Given the description of an element on the screen output the (x, y) to click on. 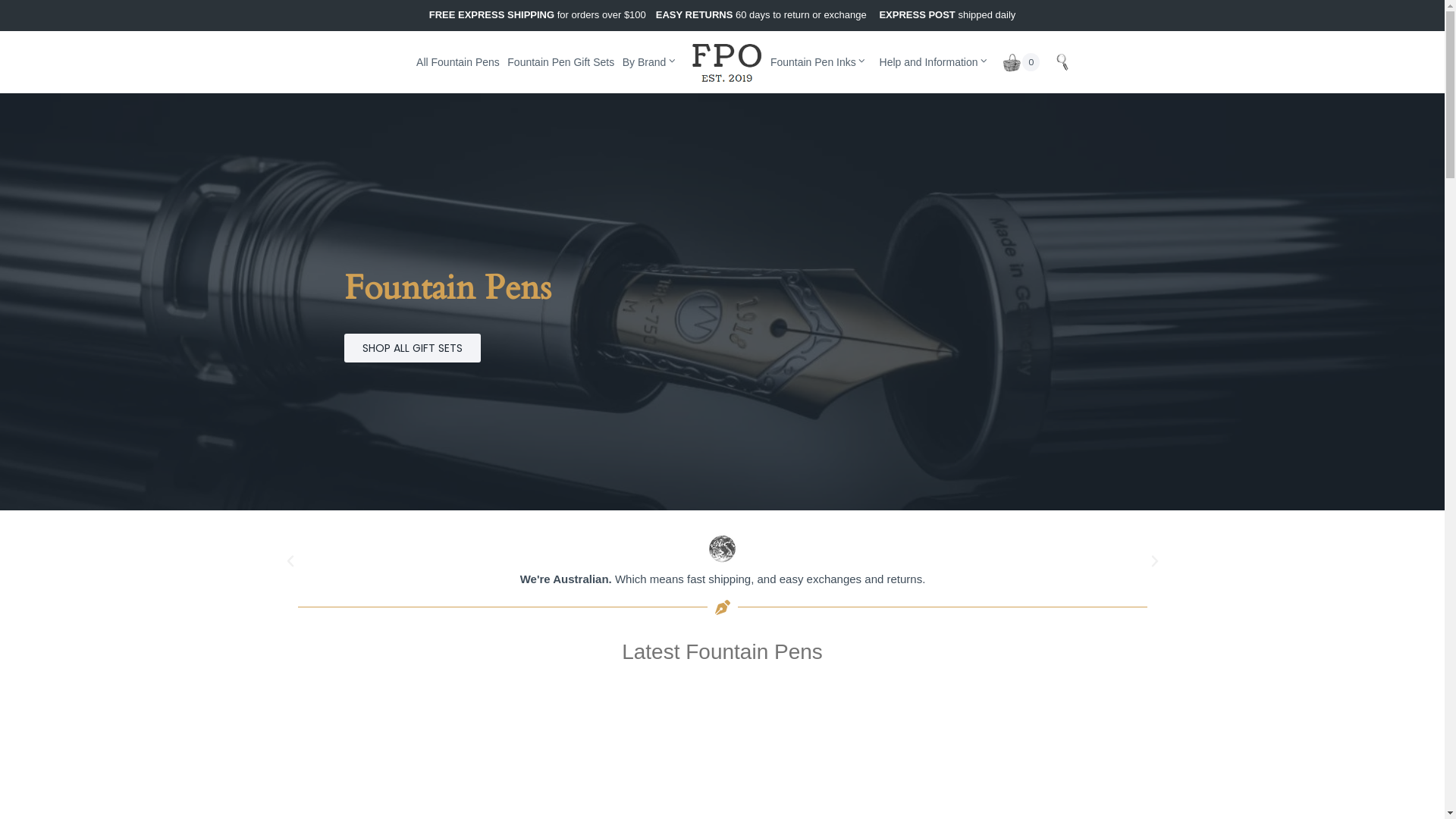
Fountain Pen Gift Sets Element type: text (560, 61)
Fountain Pen Inks Element type: text (818, 61)
SHOP ALL GIFT SETS Element type: text (412, 347)
By Brand Element type: text (649, 61)
All Fountain Pens Element type: text (457, 61)
Help and Information Element type: text (933, 61)
0 Element type: text (1020, 62)
